Given the description of an element on the screen output the (x, y) to click on. 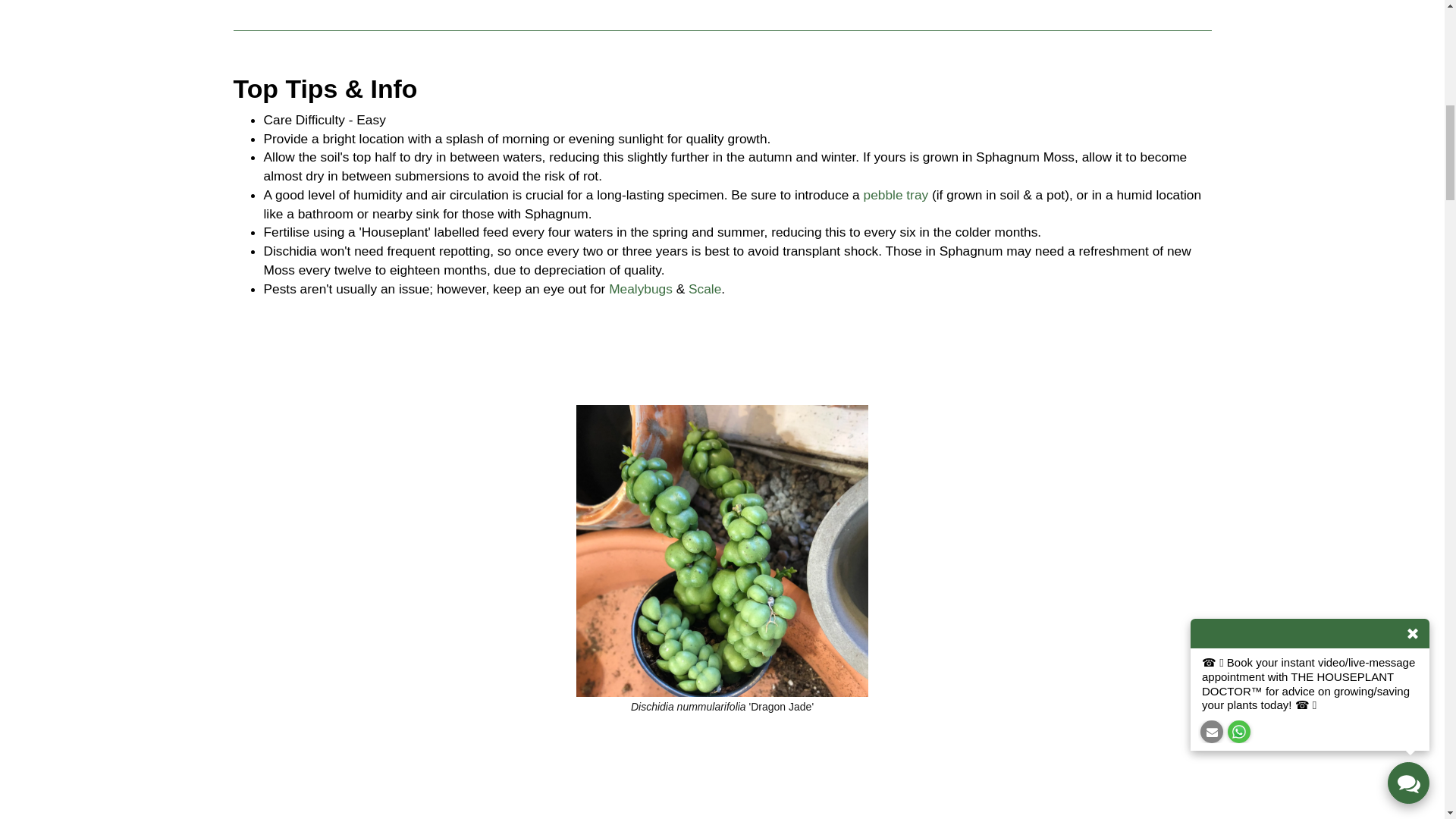
Scale (704, 288)
pebble tray (895, 194)
Mealybugs (640, 288)
